Given the description of an element on the screen output the (x, y) to click on. 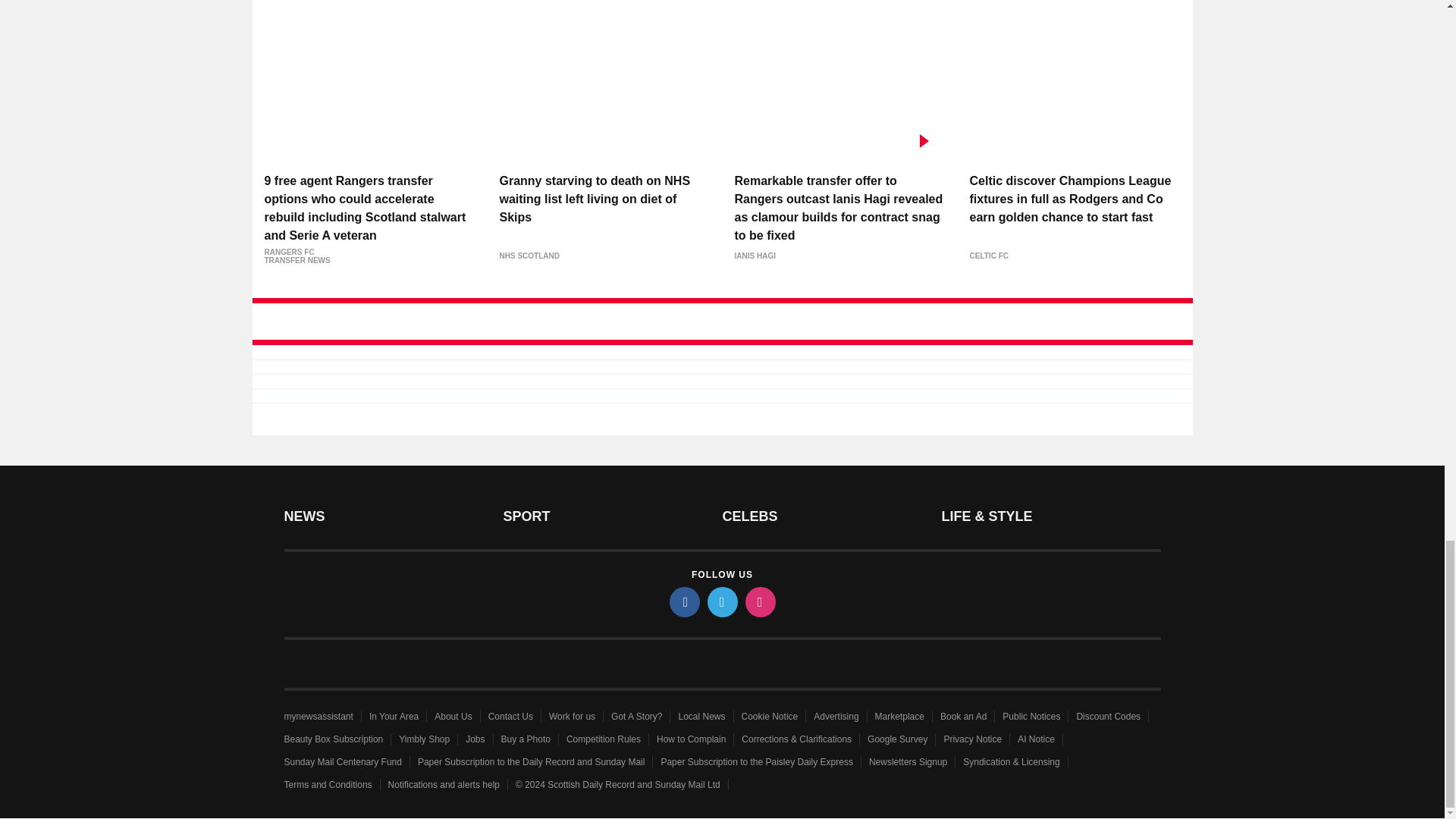
instagram (759, 602)
facebook (683, 602)
twitter (721, 602)
